Given the description of an element on the screen output the (x, y) to click on. 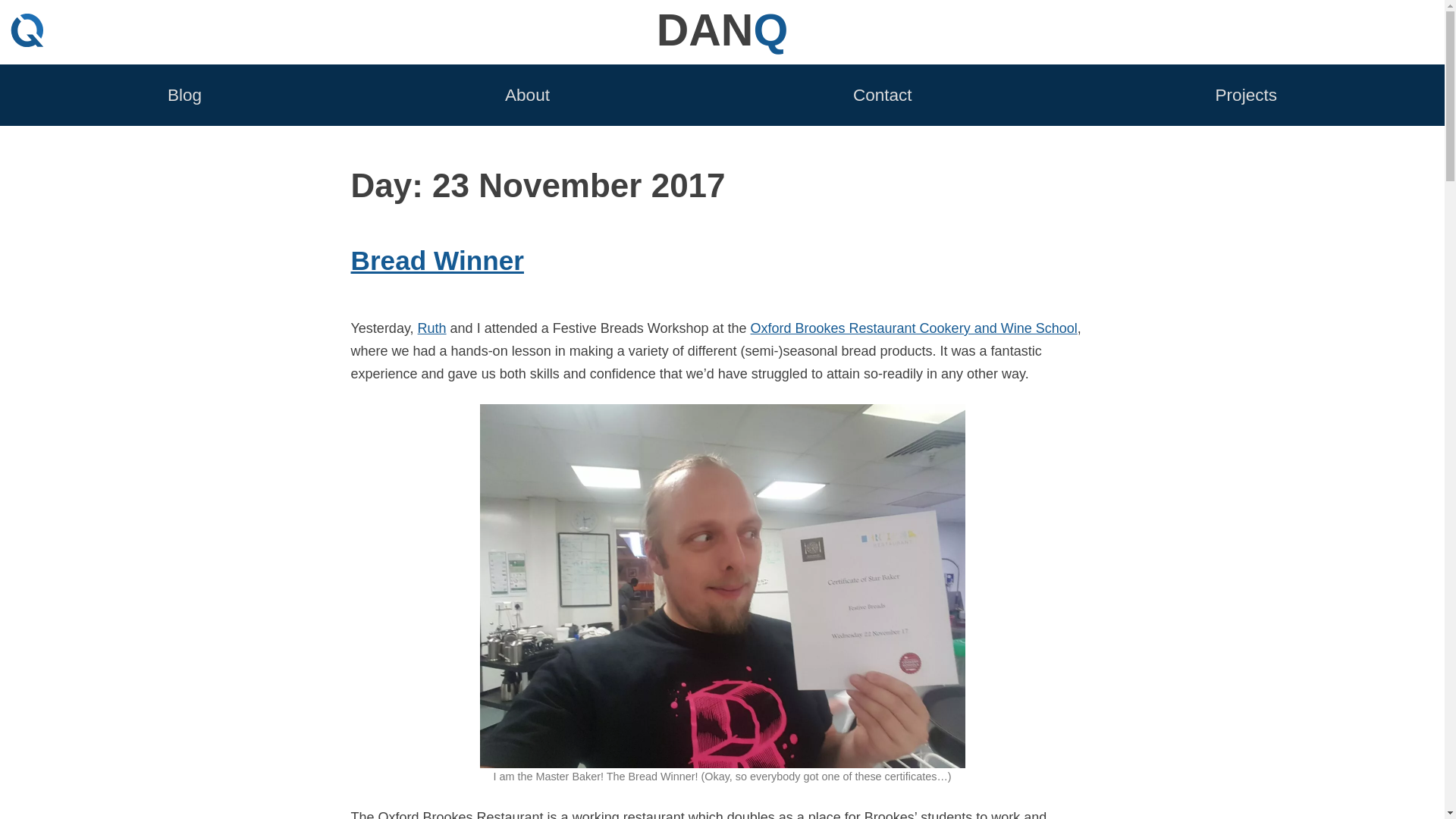
Contact (882, 94)
About Dan Q (527, 94)
About (527, 94)
Projects (1245, 94)
Bread Winner (914, 328)
Ruth (436, 260)
Blog (431, 328)
